Given the description of an element on the screen output the (x, y) to click on. 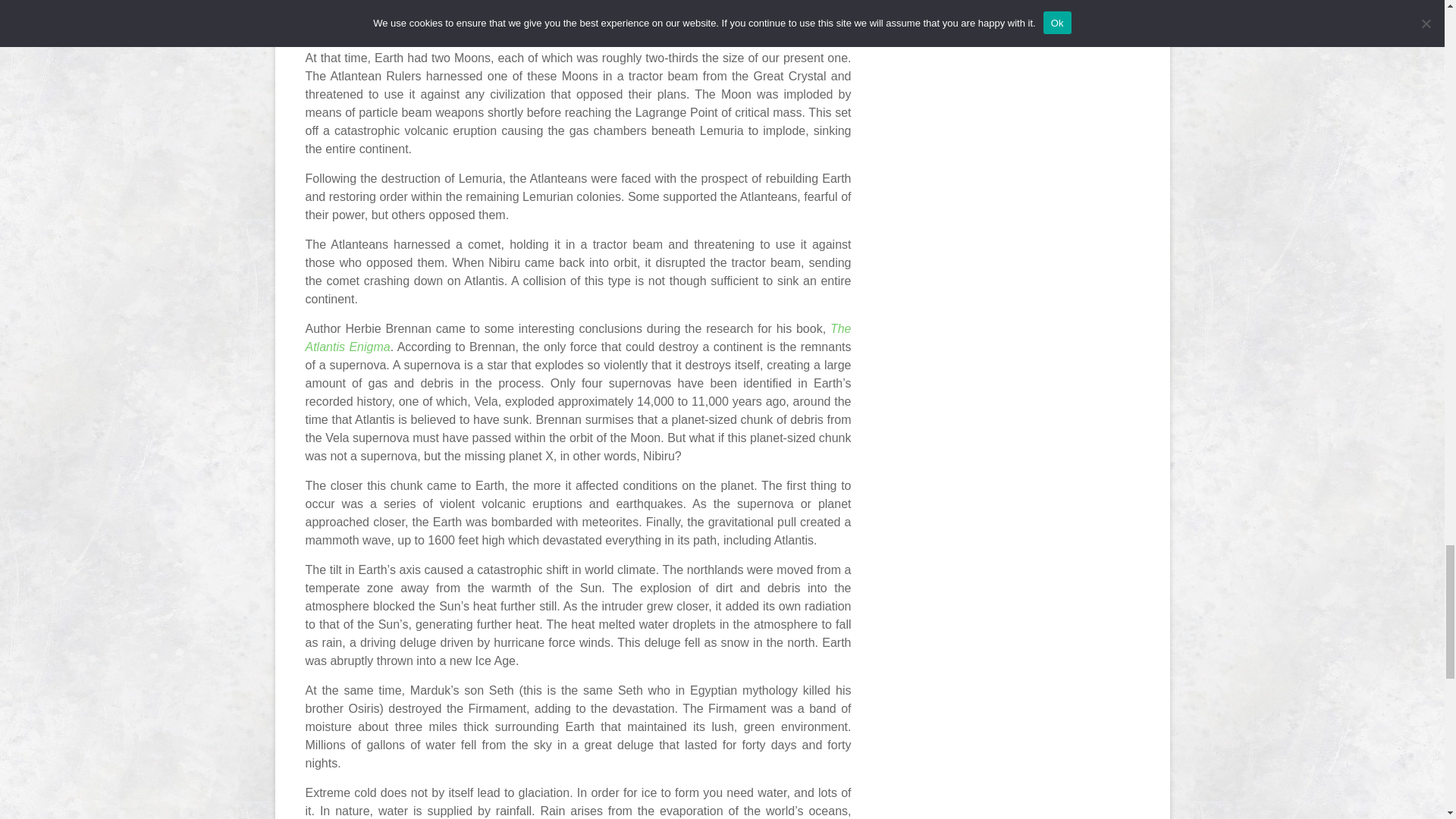
Amazon: The Atlantis Enigma (577, 337)
The Atlantis Enigma (577, 337)
